Given the description of an element on the screen output the (x, y) to click on. 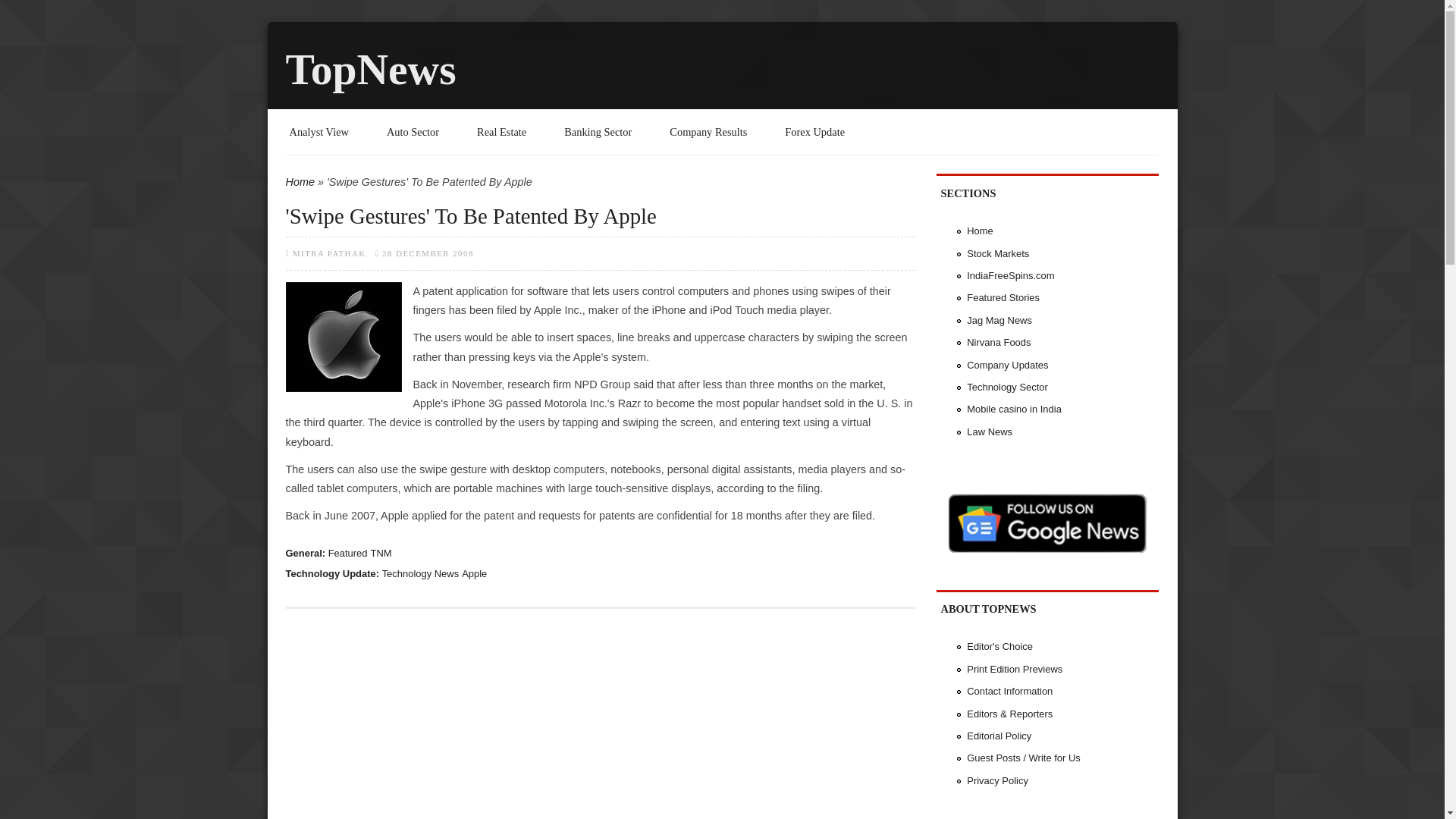
Privacy Policy (996, 780)
Print Edition Previews (1014, 668)
Auto Sector (413, 132)
Nirvana Foods (998, 342)
Forex Update (814, 132)
Company Results (707, 132)
Technology Sector TopNews (1007, 387)
Company Results (707, 132)
Law News TopNews (988, 431)
Stock Markets (997, 253)
